Given the description of an element on the screen output the (x, y) to click on. 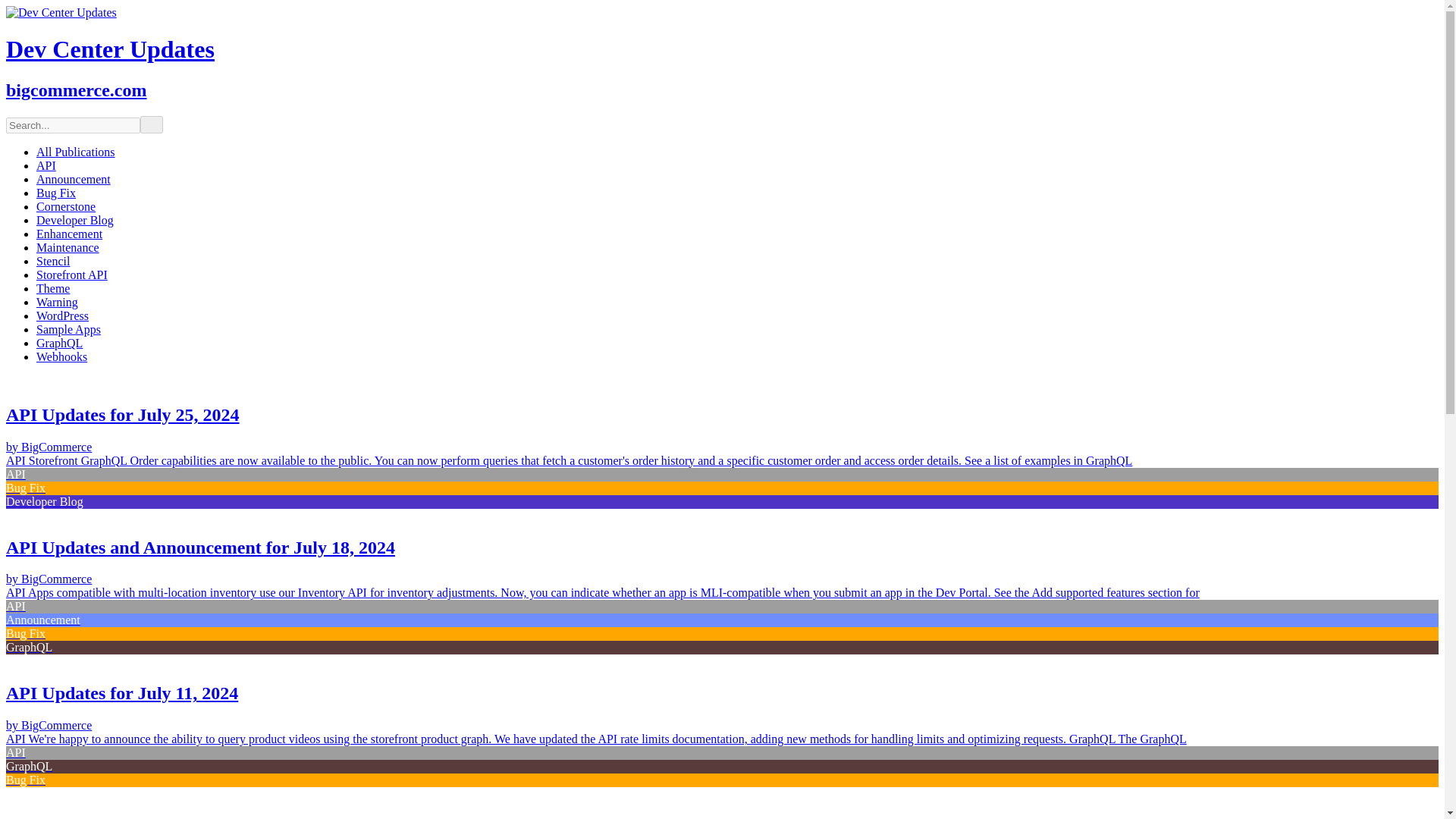
Warning (57, 301)
Stencil (52, 260)
Bug Fix (55, 192)
Maintenance (67, 246)
API (46, 164)
All Publications (75, 151)
Bug Fix (55, 192)
Theme (52, 287)
Enhancement (68, 233)
Enhancement (68, 233)
Sample Apps (68, 328)
bigcommerce.com (76, 89)
Dev Center (60, 11)
Storefront API (71, 274)
Sample Apps (68, 328)
